Given the description of an element on the screen output the (x, y) to click on. 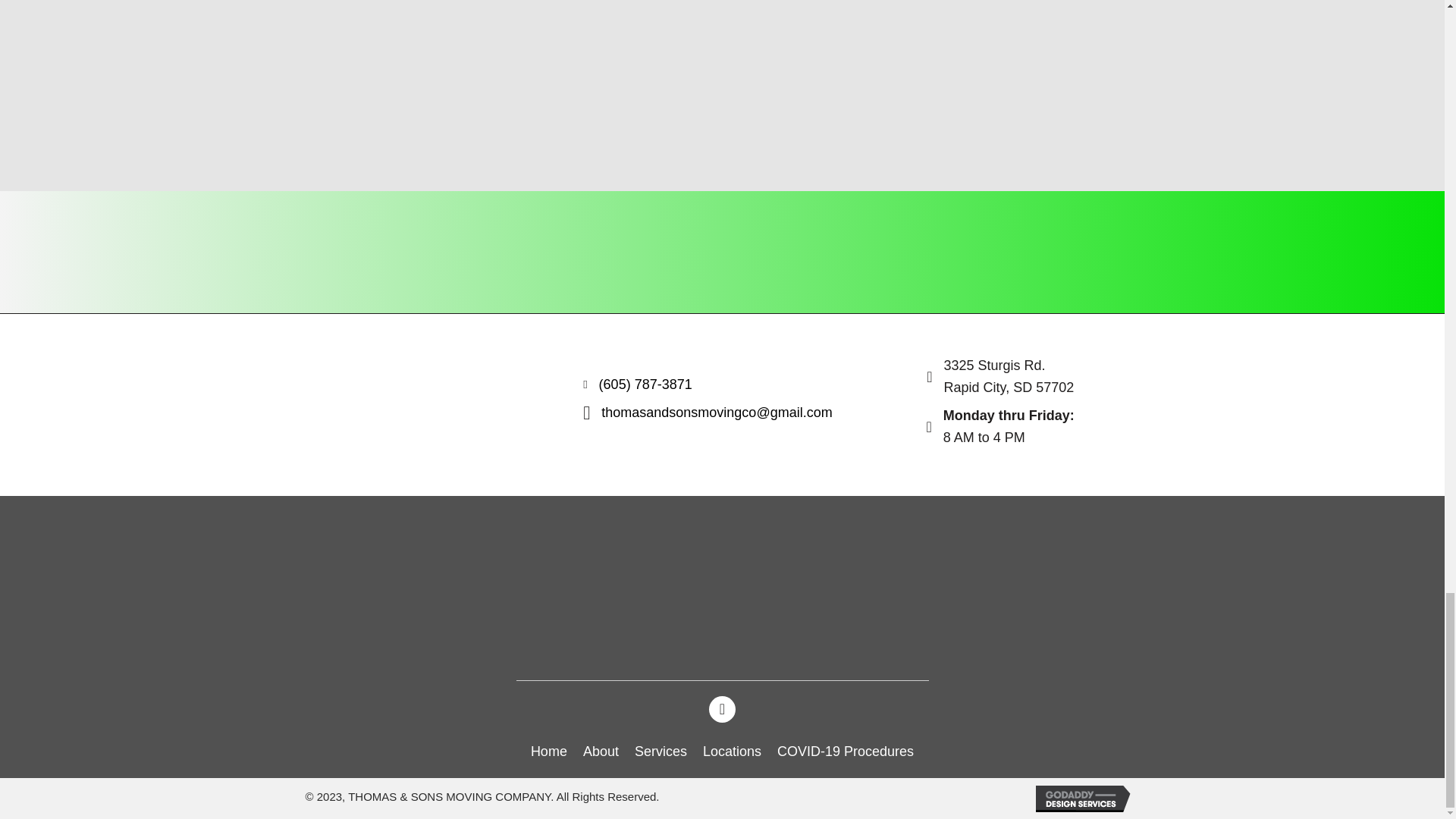
Locations (731, 749)
Top Rated Local (997, 586)
Elite Moving Labor (446, 586)
BBB ACCREDITED BUSINESS (721, 586)
Home (548, 749)
Services (660, 749)
About (600, 749)
COVID-19 Procedures (845, 749)
